Given the description of an element on the screen output the (x, y) to click on. 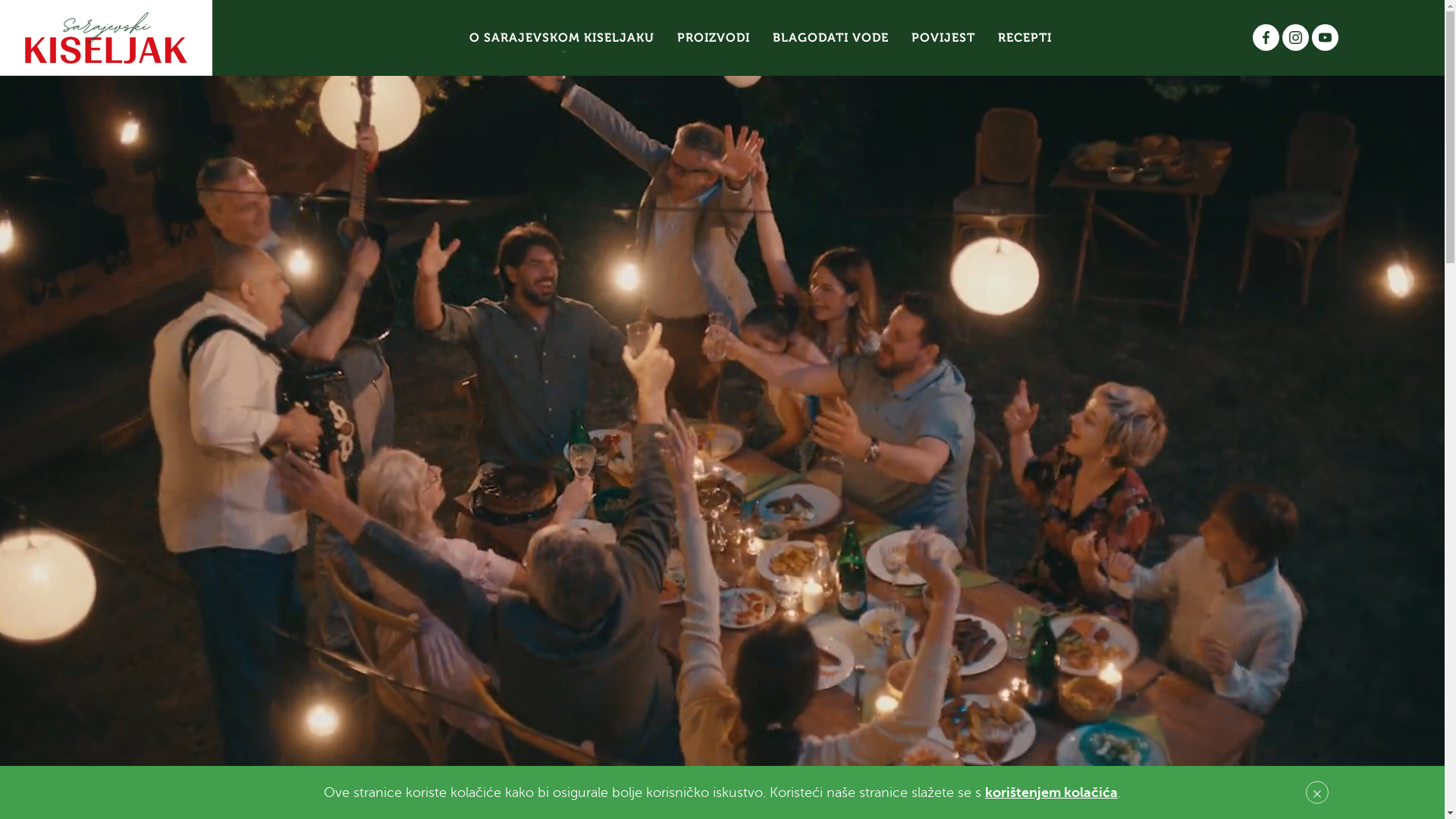
BLAGODATI VODE Element type: text (830, 37)
O SARAJEVSKOM KISELJAKU Element type: text (561, 37)
PROIZVODI Element type: text (713, 37)
POVIJEST Element type: text (942, 37)
RECEPTI Element type: text (1023, 37)
